Given the description of an element on the screen output the (x, y) to click on. 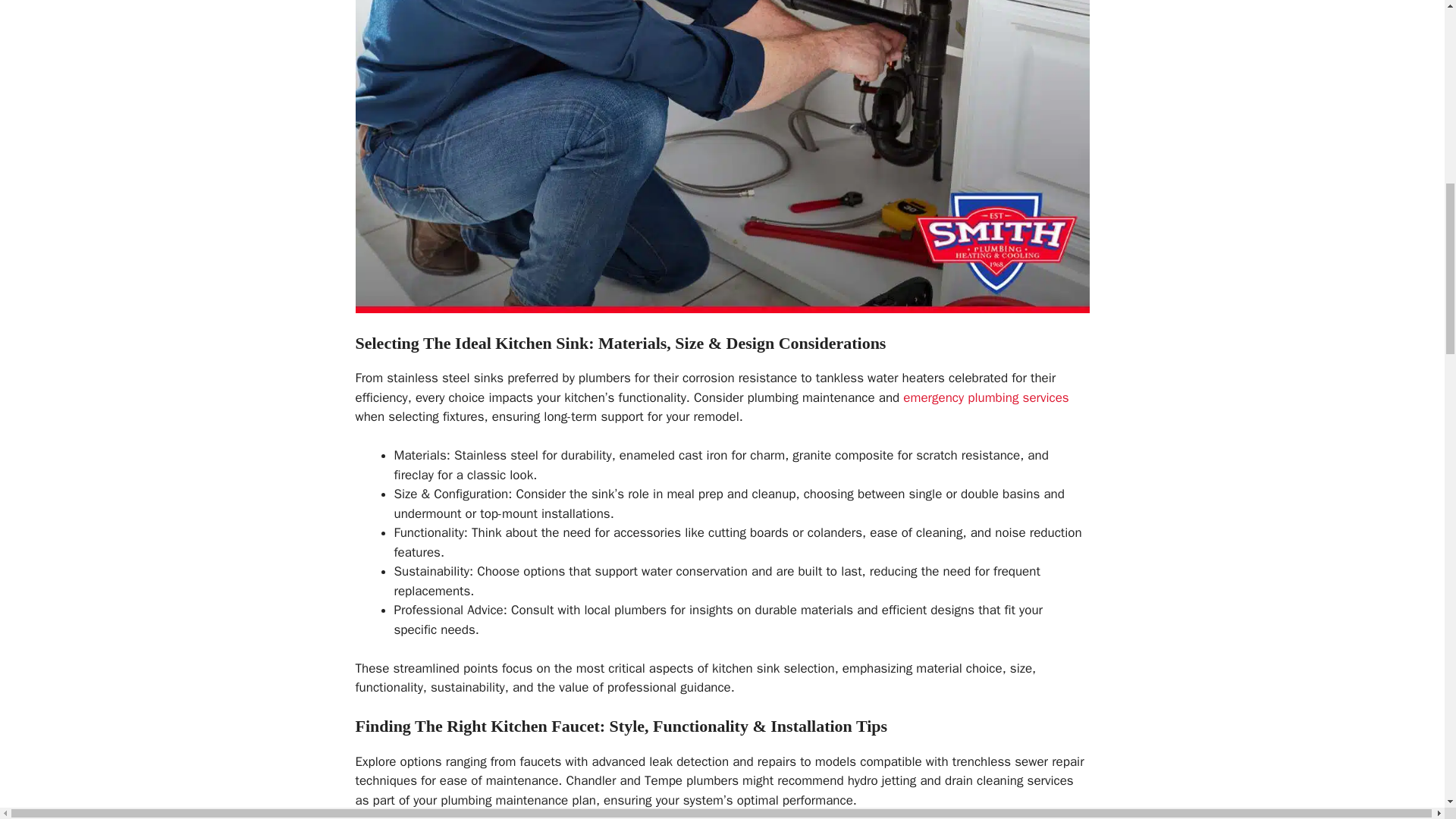
emergency plumbing services (985, 397)
